Given the description of an element on the screen output the (x, y) to click on. 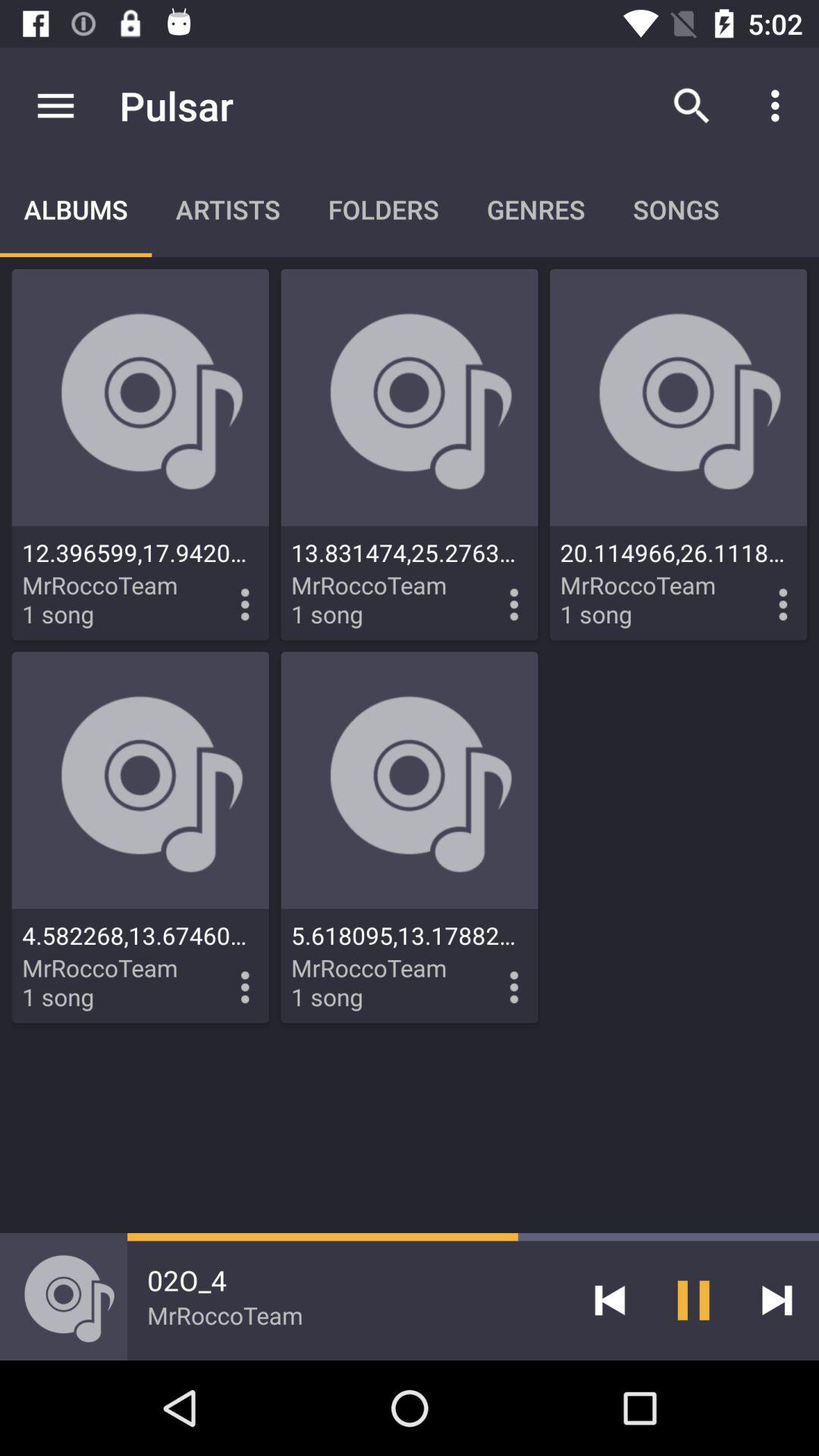
turn off item above albums icon (55, 105)
